Given the description of an element on the screen output the (x, y) to click on. 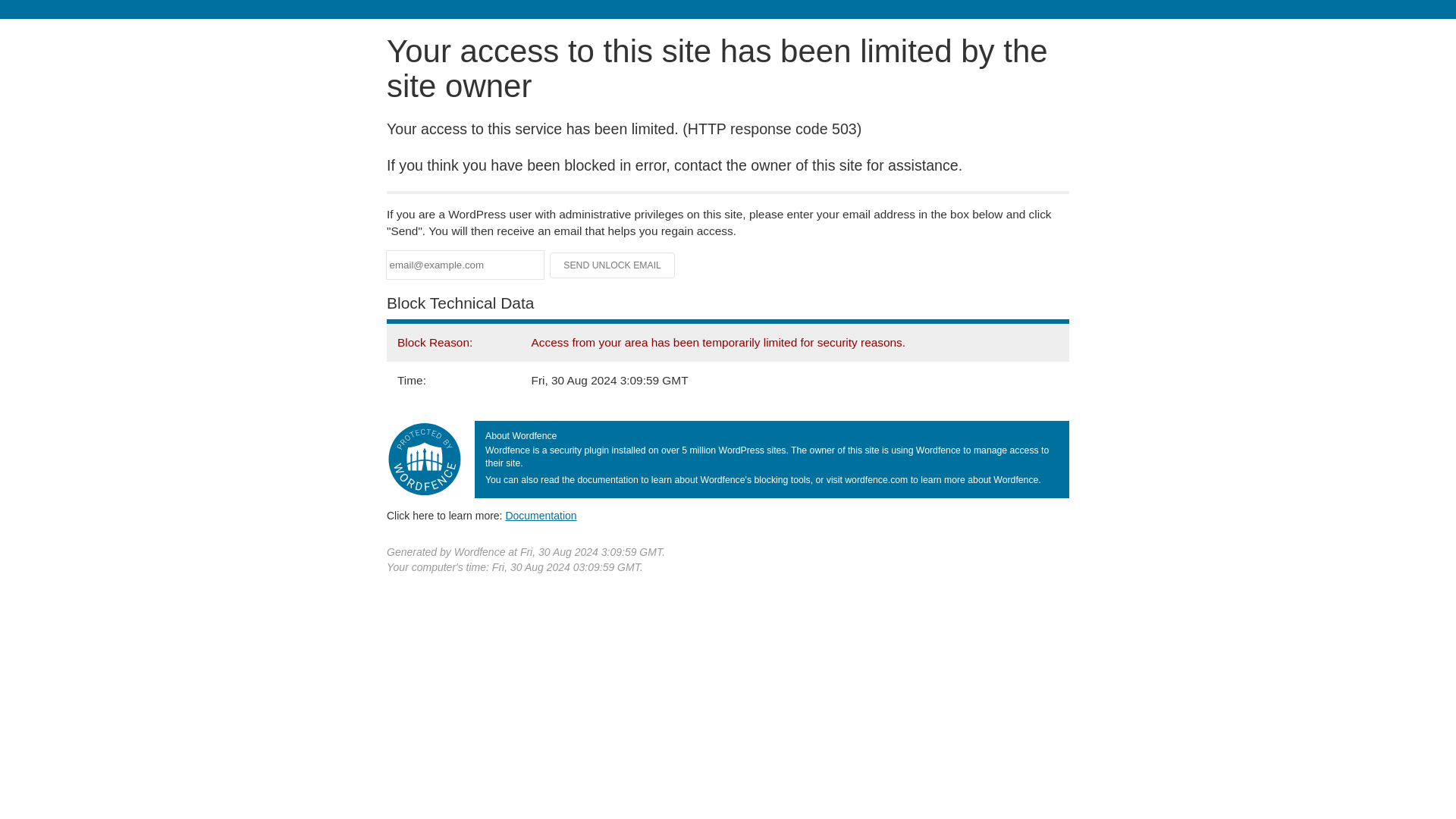
Send Unlock Email (612, 265)
Documentation (540, 515)
Send Unlock Email (612, 265)
